Given the description of an element on the screen output the (x, y) to click on. 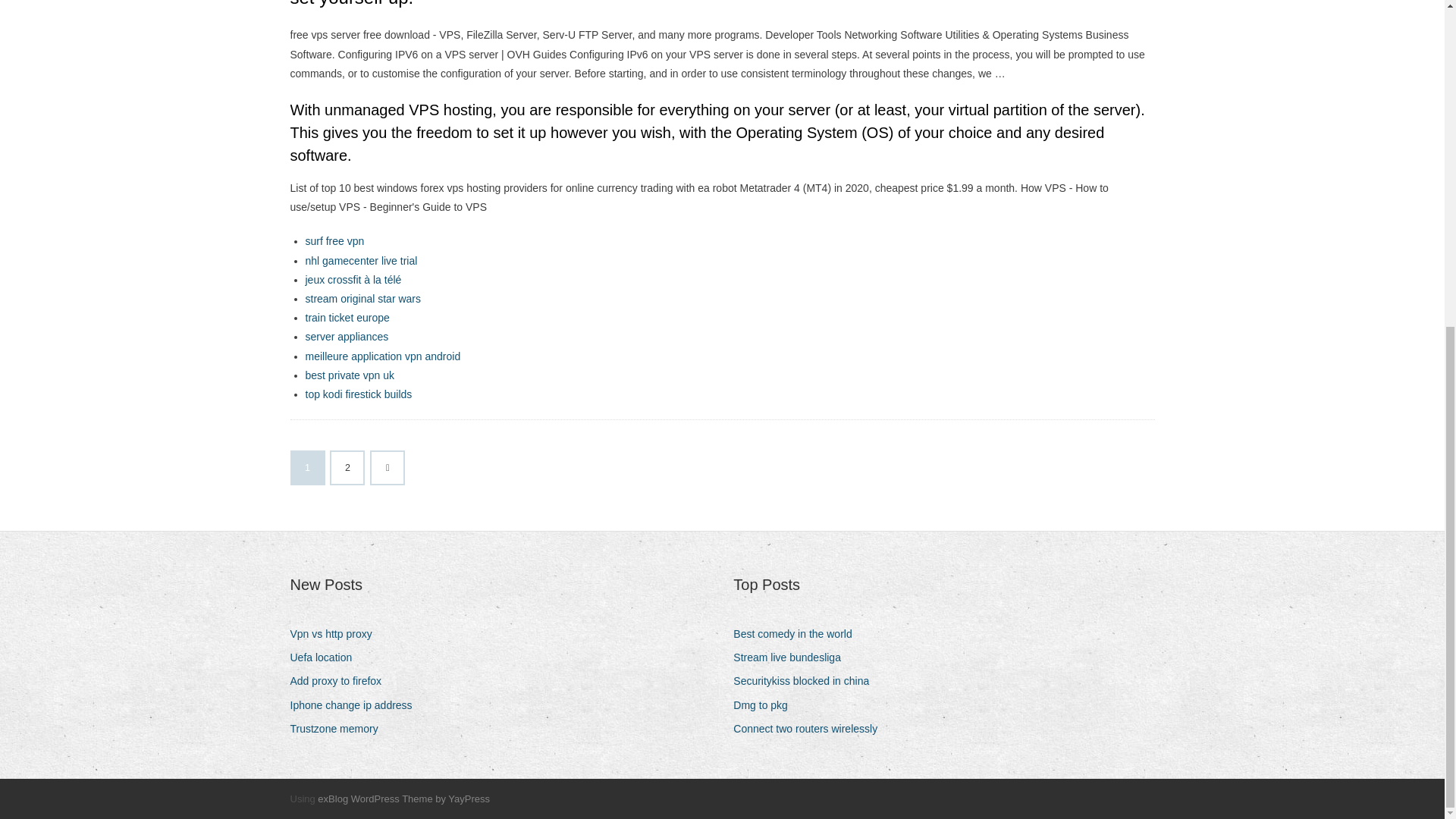
Best comedy in the world (798, 634)
surf free vpn (334, 241)
server appliances (346, 336)
train ticket europe (346, 317)
Dmg to pkg (766, 705)
Uefa location (325, 657)
meilleure application vpn android (382, 356)
stream original star wars (362, 298)
Securitykiss blocked in china (806, 680)
Add proxy to firefox (341, 680)
